Given the description of an element on the screen output the (x, y) to click on. 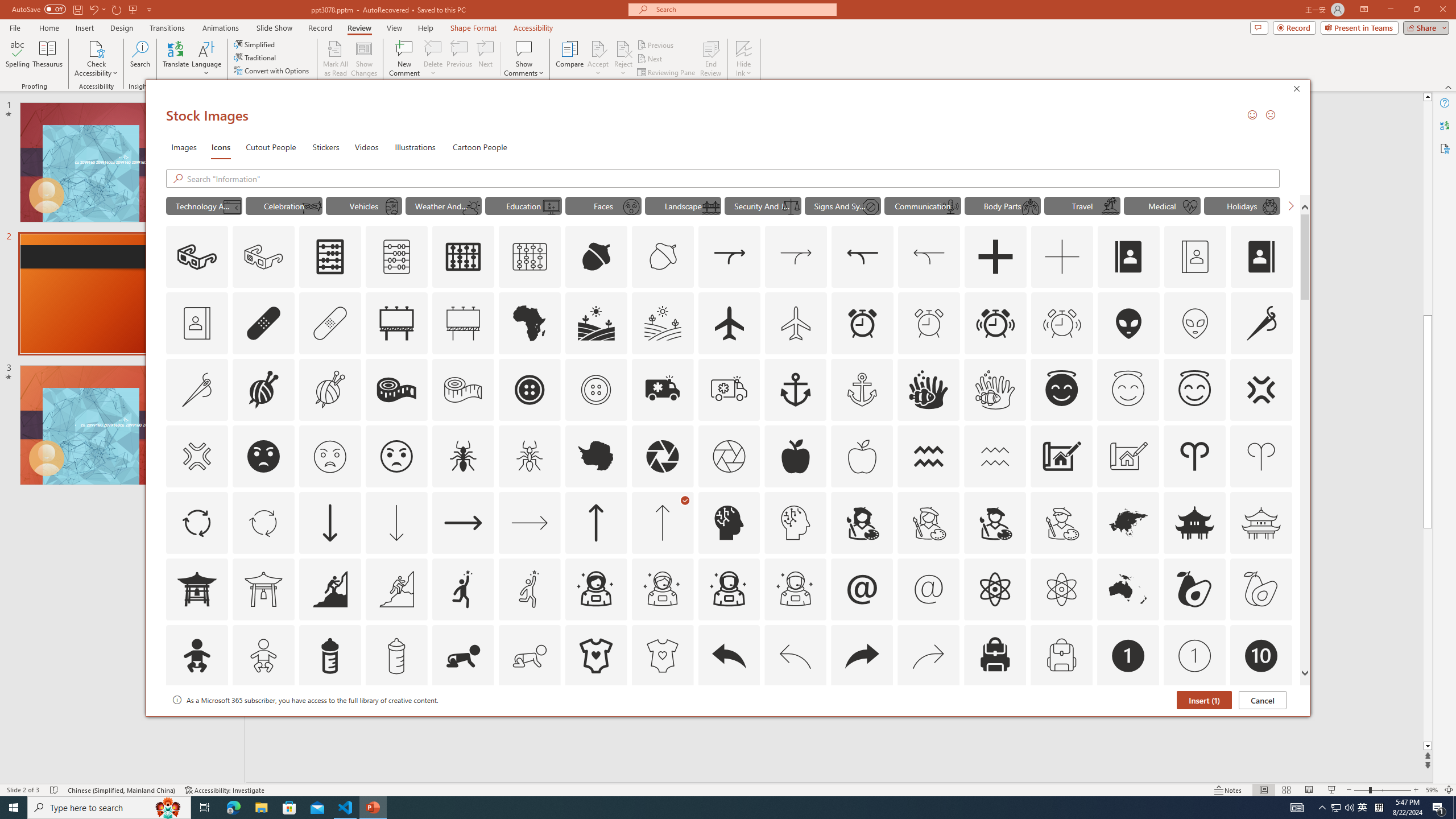
Cutout People (271, 146)
Icons (220, 146)
AutomationID: Icons_CmdTerminal_RTL_M (231, 206)
AutomationID: Icons_Aspiration (329, 588)
AutomationID: Icons_Apple_M (861, 455)
AutomationID: Icons_BabyBottle (329, 655)
